Given the description of an element on the screen output the (x, y) to click on. 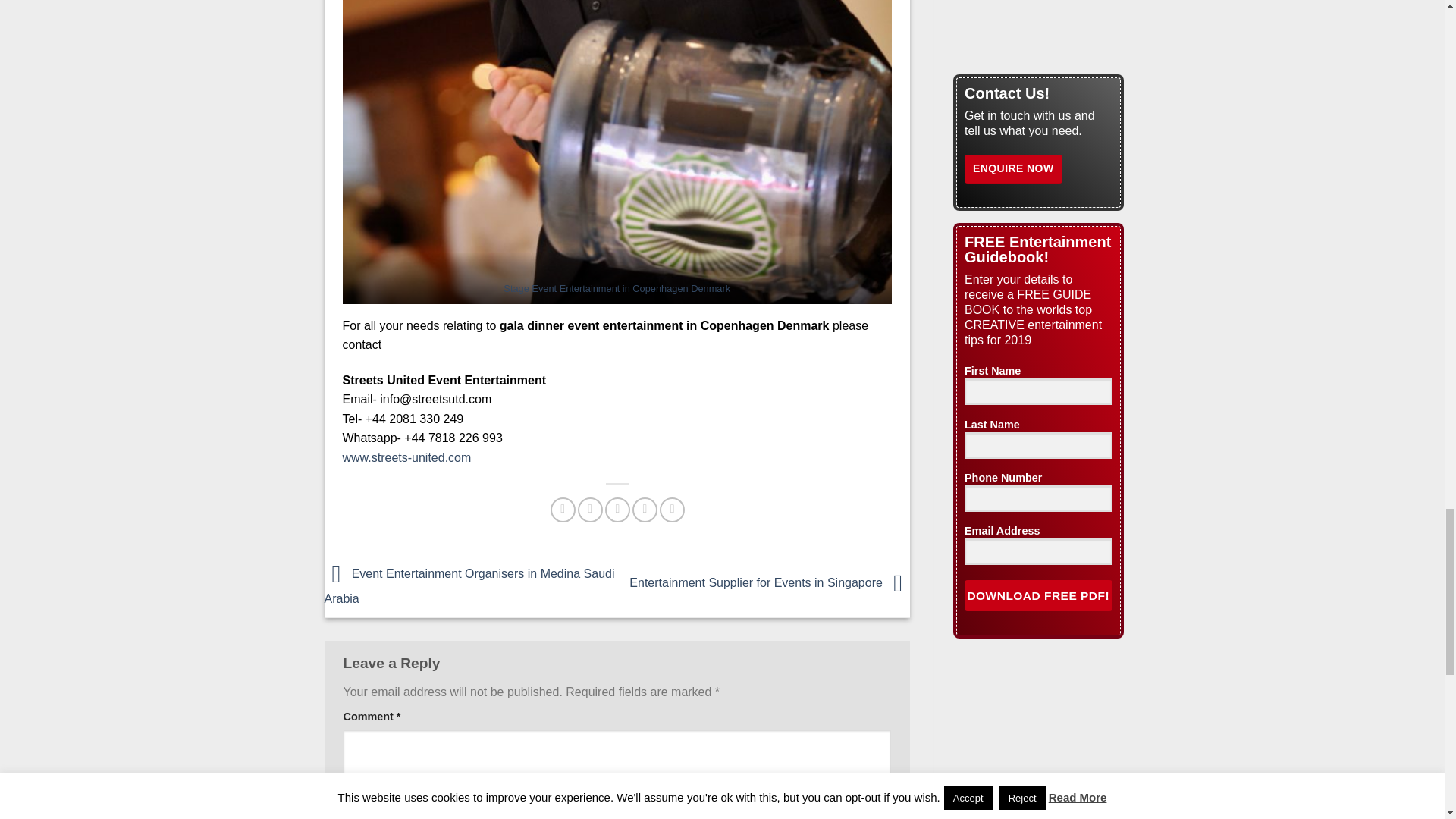
Share on Facebook (562, 509)
Email to a Friend (617, 509)
Share on Twitter (590, 509)
